Given the description of an element on the screen output the (x, y) to click on. 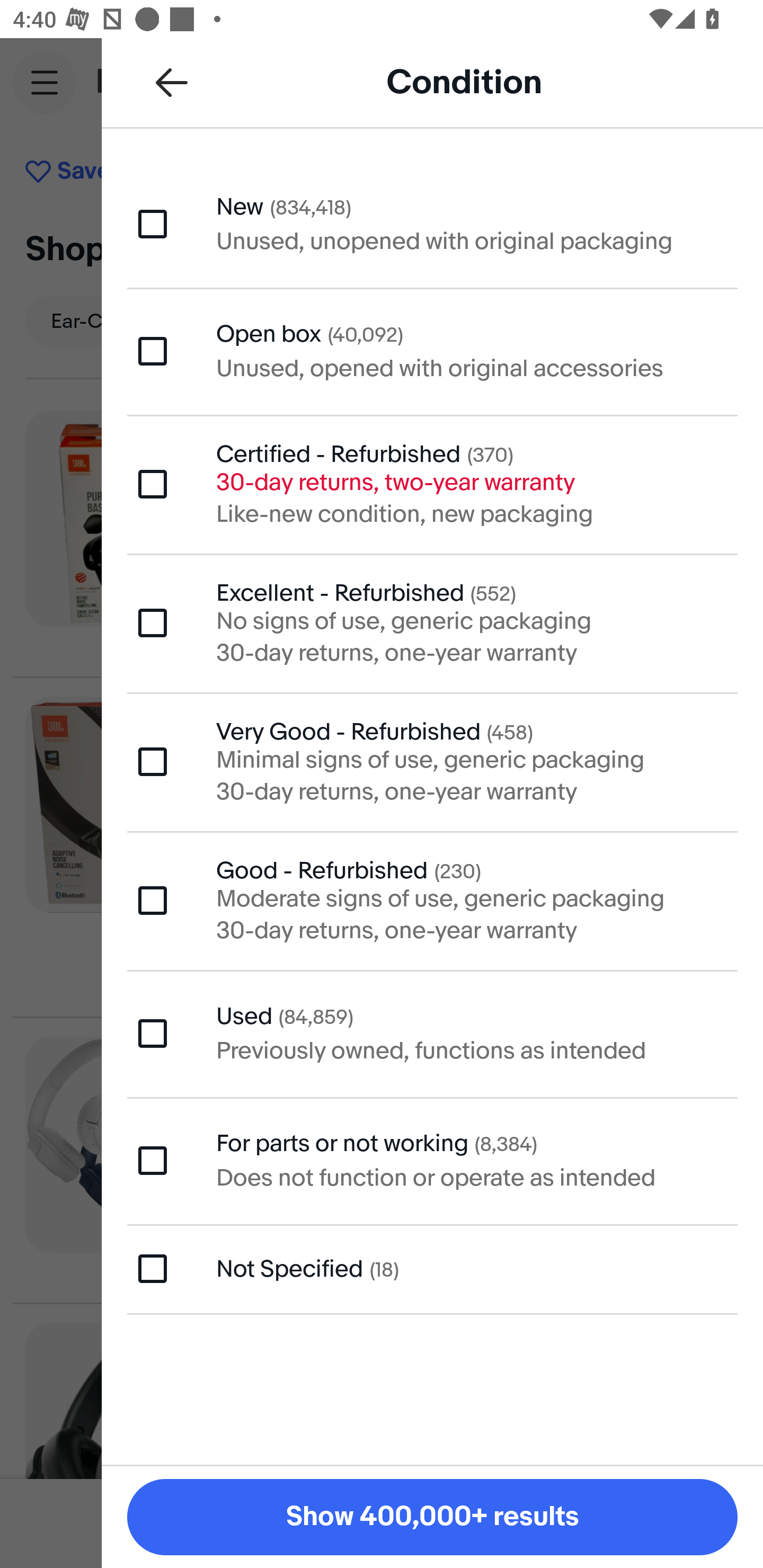
Back to all refinements (171, 81)
Not Specified (18) (432, 1268)
Show 400,000+ results (432, 1516)
